Given the description of an element on the screen output the (x, y) to click on. 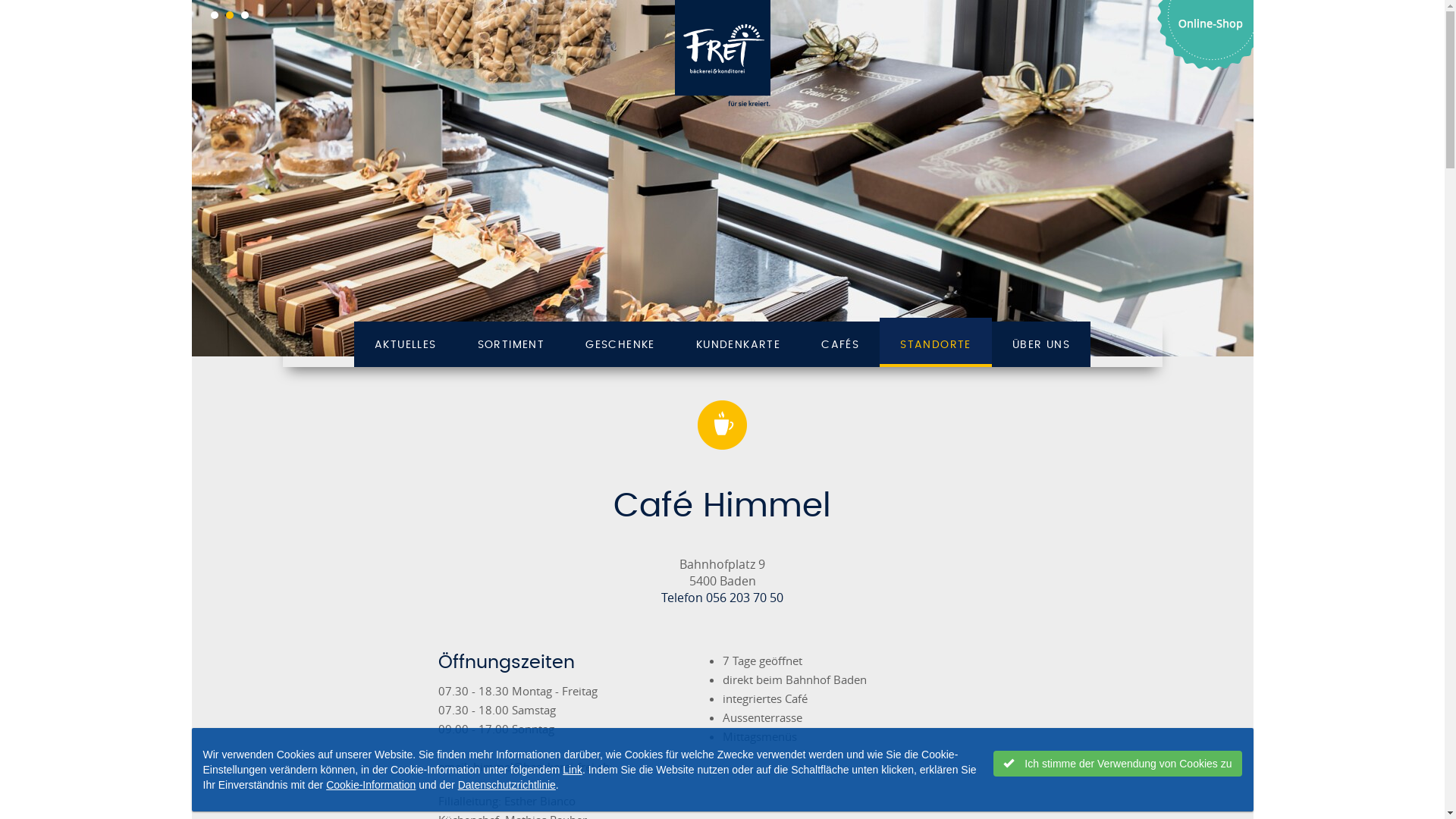
2 Element type: text (229, 14)
1 Element type: text (214, 14)
GESCHENKE Element type: text (619, 342)
STANDORTE Element type: text (935, 342)
Telefon 056 203 70 50 Element type: text (722, 597)
KUNDENKARTE Element type: text (737, 342)
Ich stimme der Verwendung von Cookies zu Element type: text (1117, 763)
AKTUELLES Element type: text (405, 342)
Herzlich Willkommen Element type: hover (722, 178)
Link Element type: text (572, 769)
3 Element type: text (244, 14)
SORTIMENT Element type: text (511, 342)
Datenschutzrichtlinie Element type: text (506, 784)
Cookie-Information Element type: text (370, 784)
Baeckerei Frei Element type: hover (721, 53)
